Given the description of an element on the screen output the (x, y) to click on. 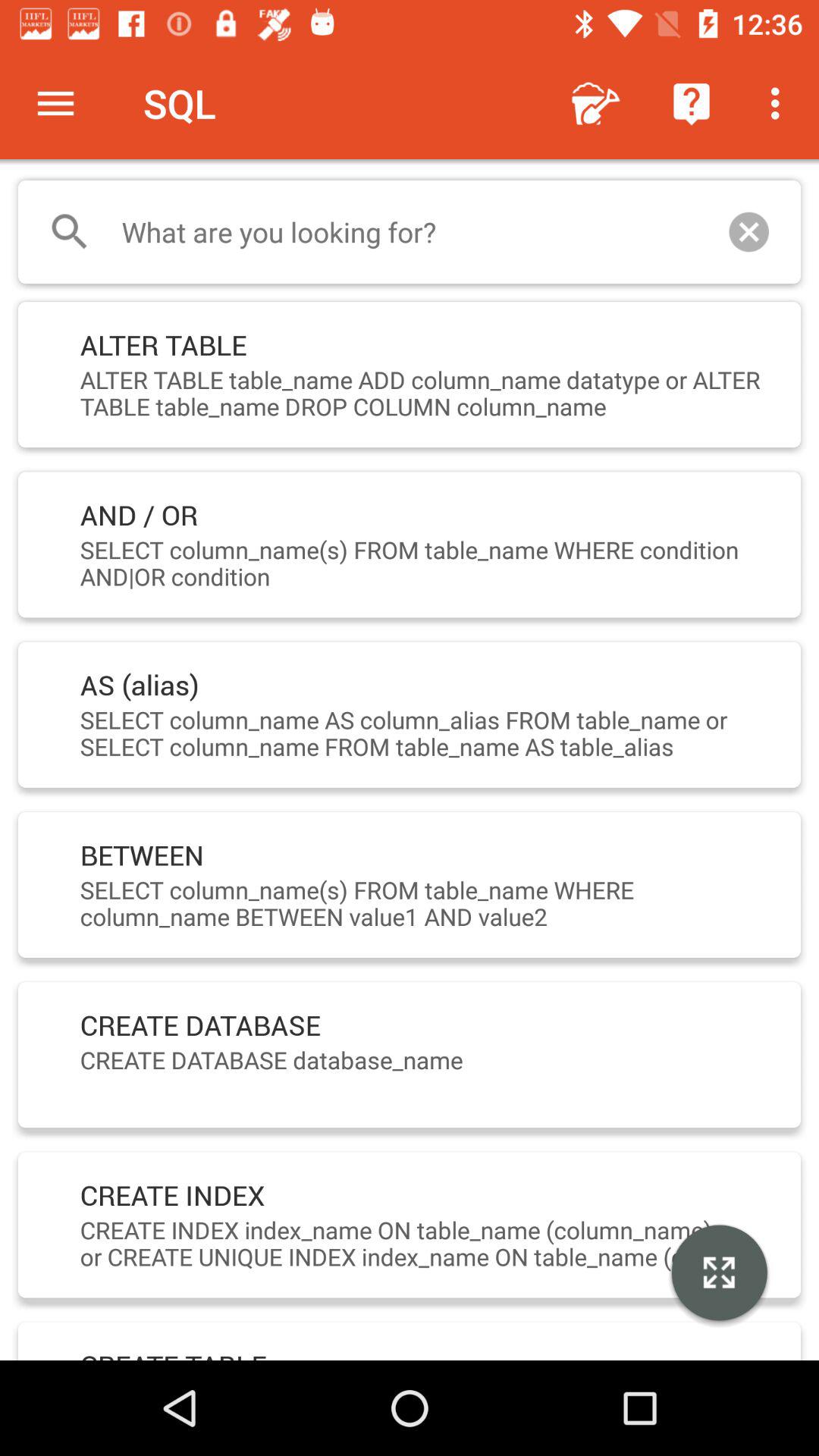
tap item above the alter table table_name item (748, 231)
